Given the description of an element on the screen output the (x, y) to click on. 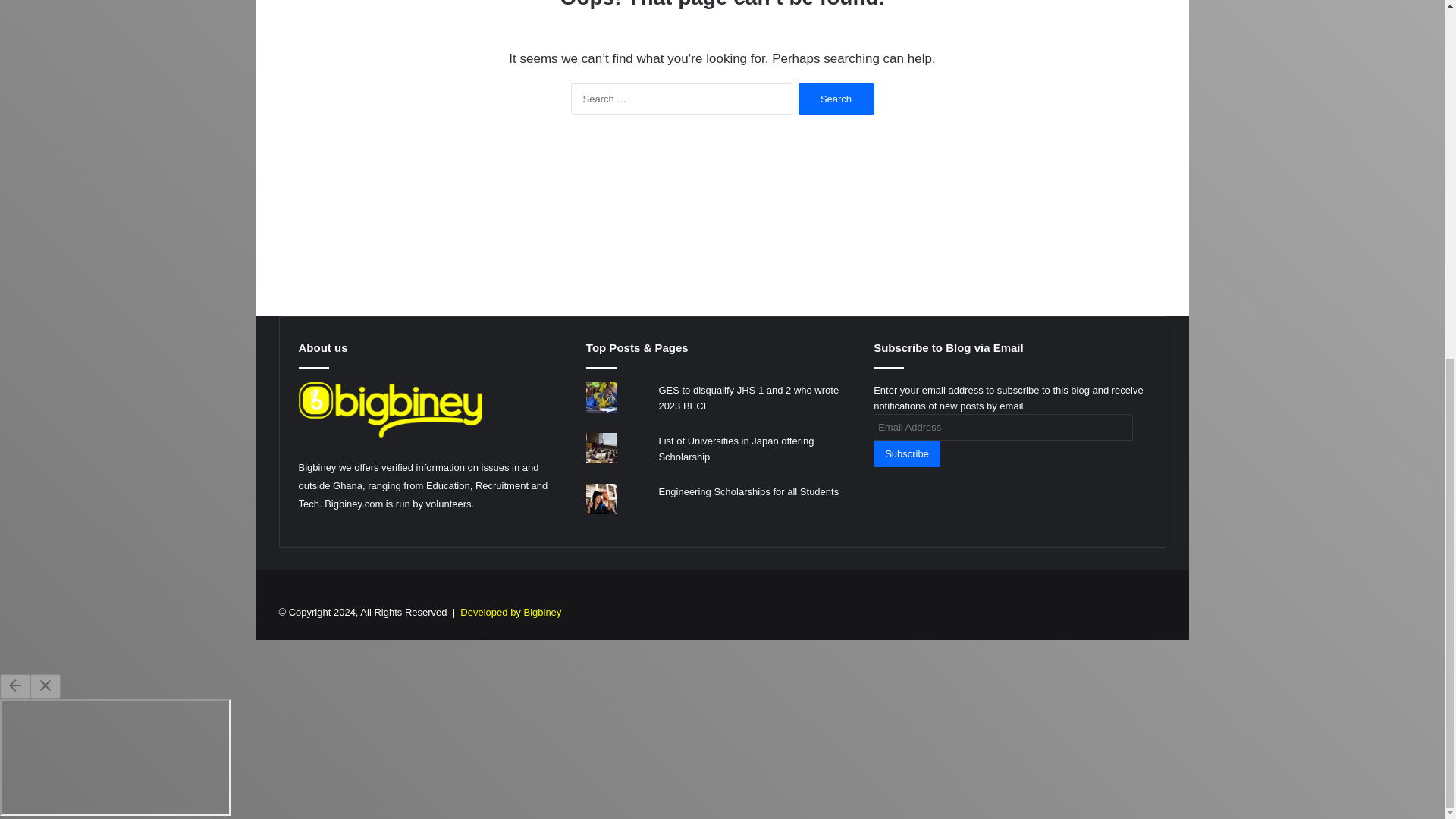
GES to disqualify JHS 1 and 2 who wrote 2023 BECE (748, 397)
Engineering Scholarships for all Students (748, 491)
Engineering Scholarships for all Students (748, 491)
Search (835, 98)
List of Universities in Japan offering Scholarship (735, 448)
Search (835, 98)
Subscribe (906, 453)
List of Universities in Japan offering Scholarship (735, 448)
Search (835, 98)
Back to top button (1419, 248)
